Given the description of an element on the screen output the (x, y) to click on. 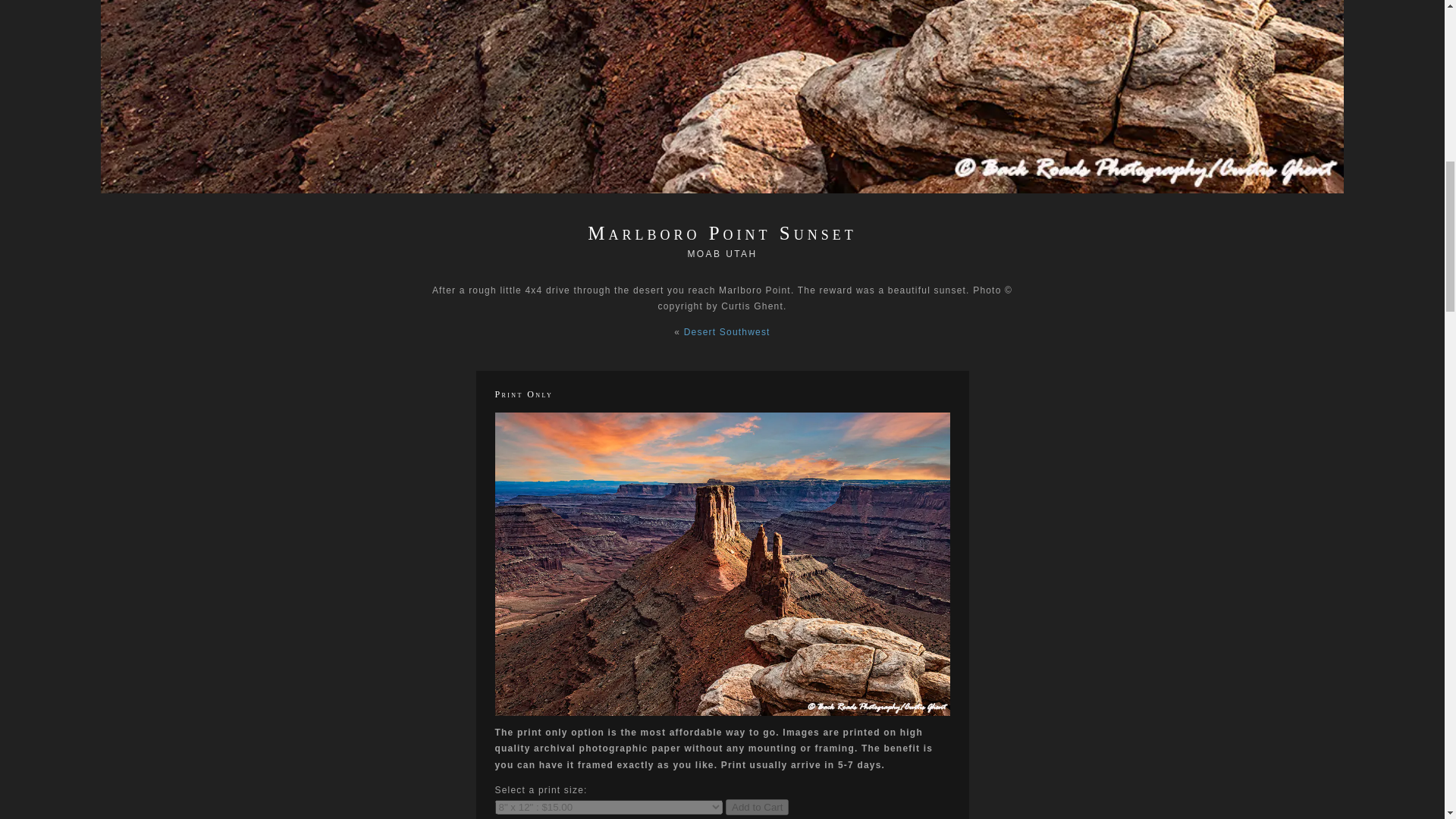
See more Desert Southwest photos (727, 331)
Desert Southwest (727, 331)
Add to Cart (757, 806)
